Given the description of an element on the screen output the (x, y) to click on. 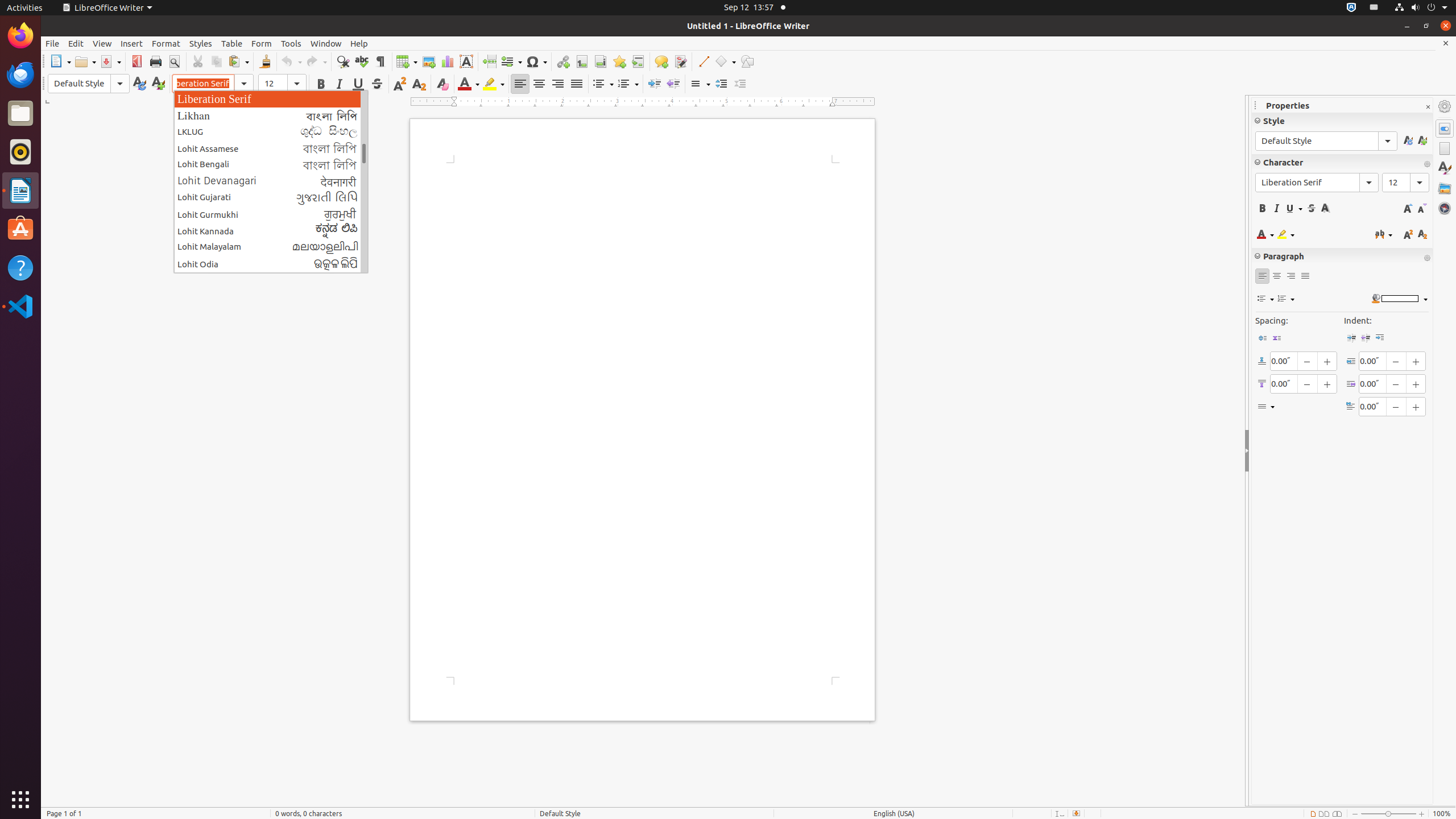
Basic Shapes Element type: push-button (724, 61)
Gallery Element type: radio-button (1444, 188)
:1.21/StatusNotifierItem Element type: menu (1373, 7)
Decrease Element type: push-button (739, 83)
:1.72/StatusNotifierItem Element type: menu (1350, 7)
